Given the description of an element on the screen output the (x, y) to click on. 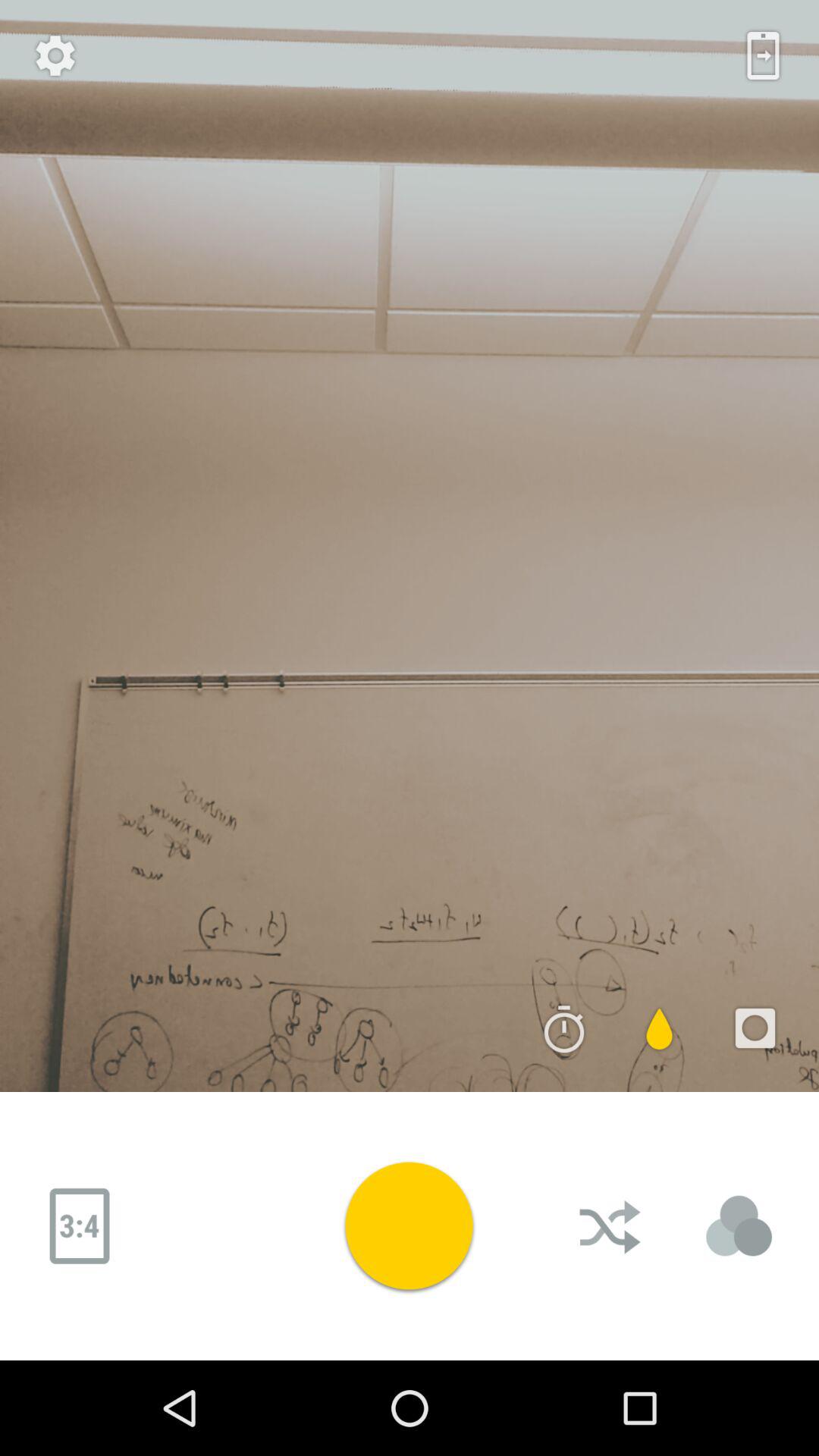
display 3:4 (79, 1226)
